Given the description of an element on the screen output the (x, y) to click on. 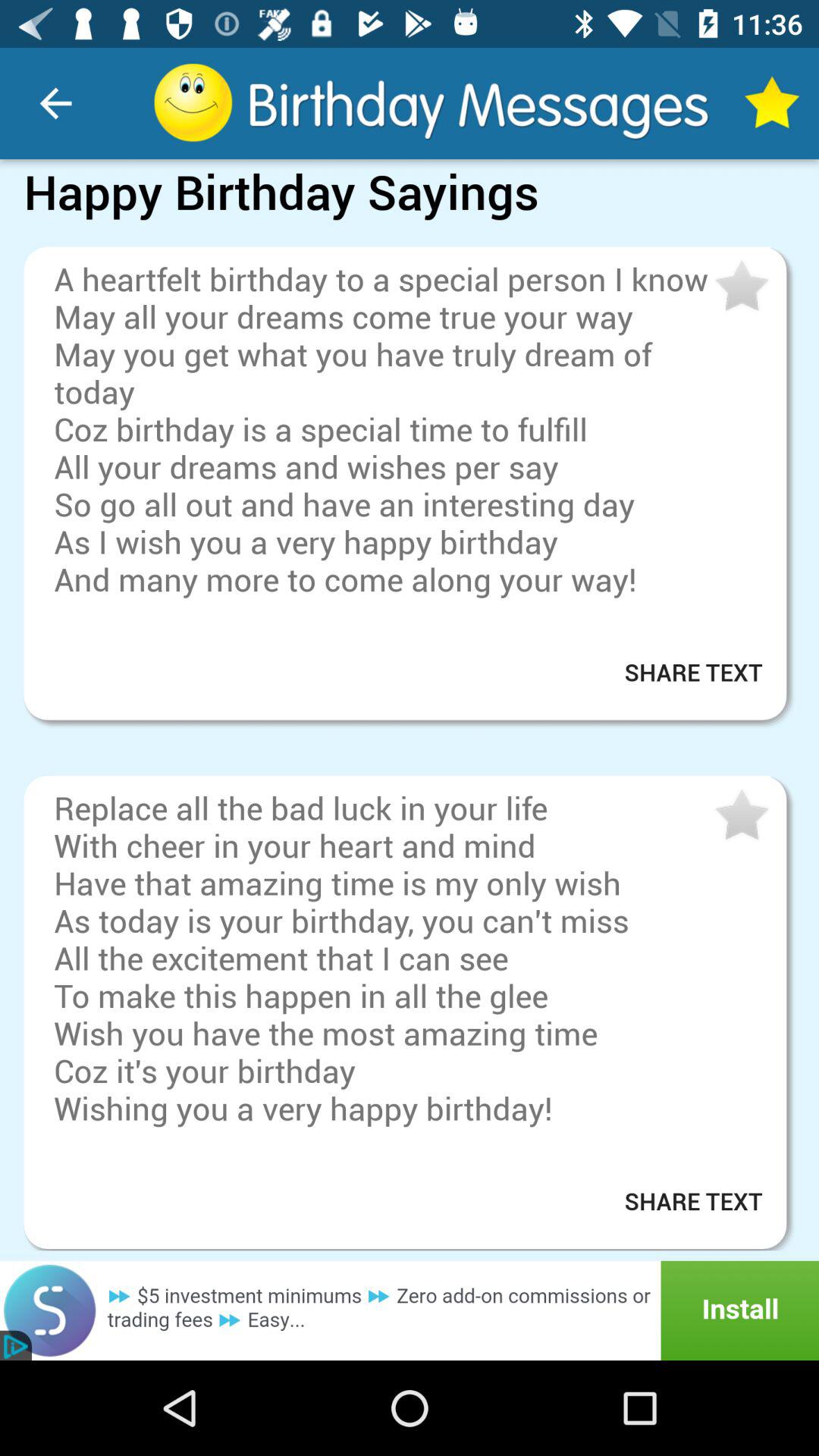
save birthday saying (740, 815)
